Given the description of an element on the screen output the (x, y) to click on. 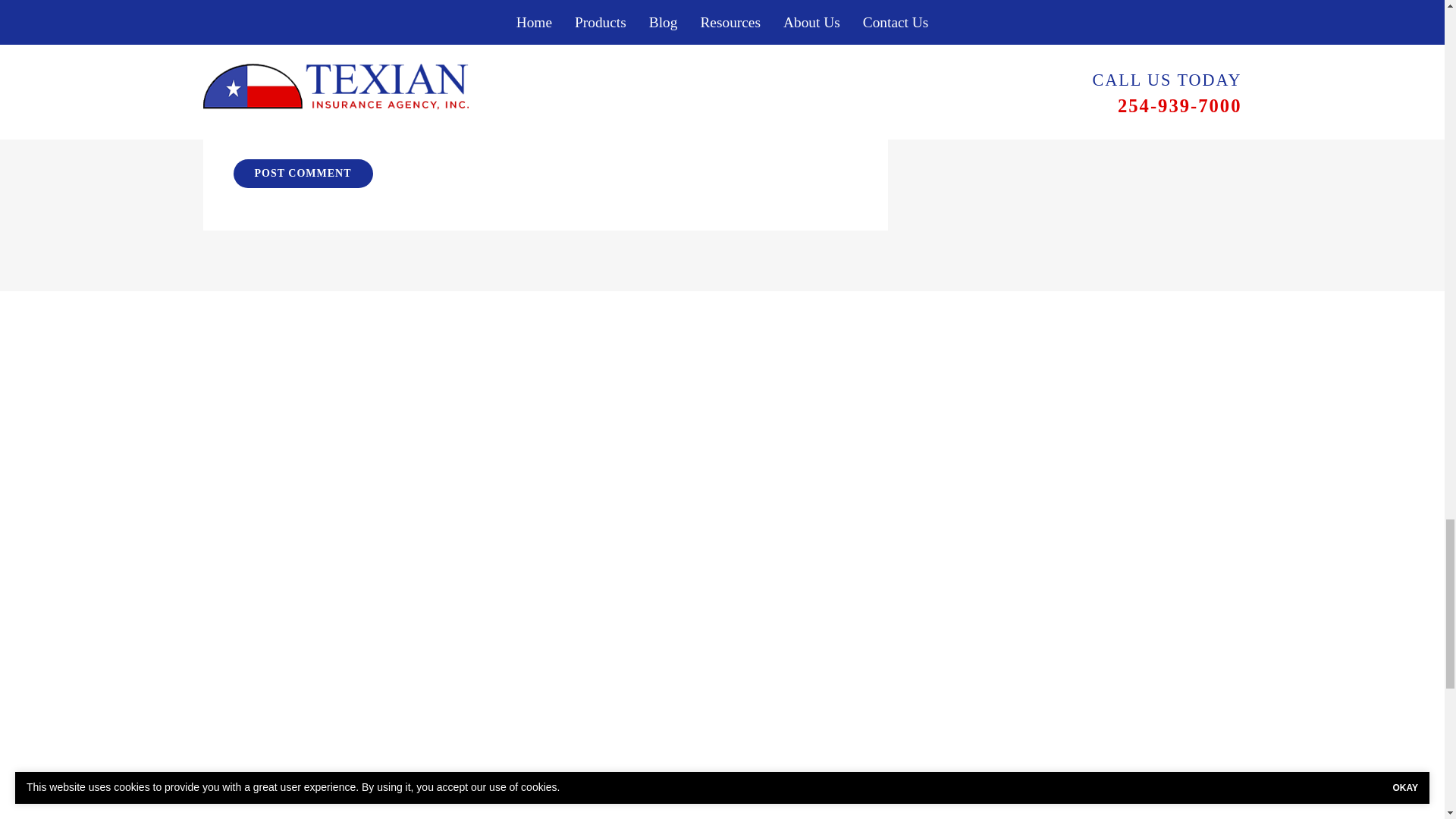
Post Comment (302, 173)
Post Comment (302, 173)
yes (237, 130)
